Given the description of an element on the screen output the (x, y) to click on. 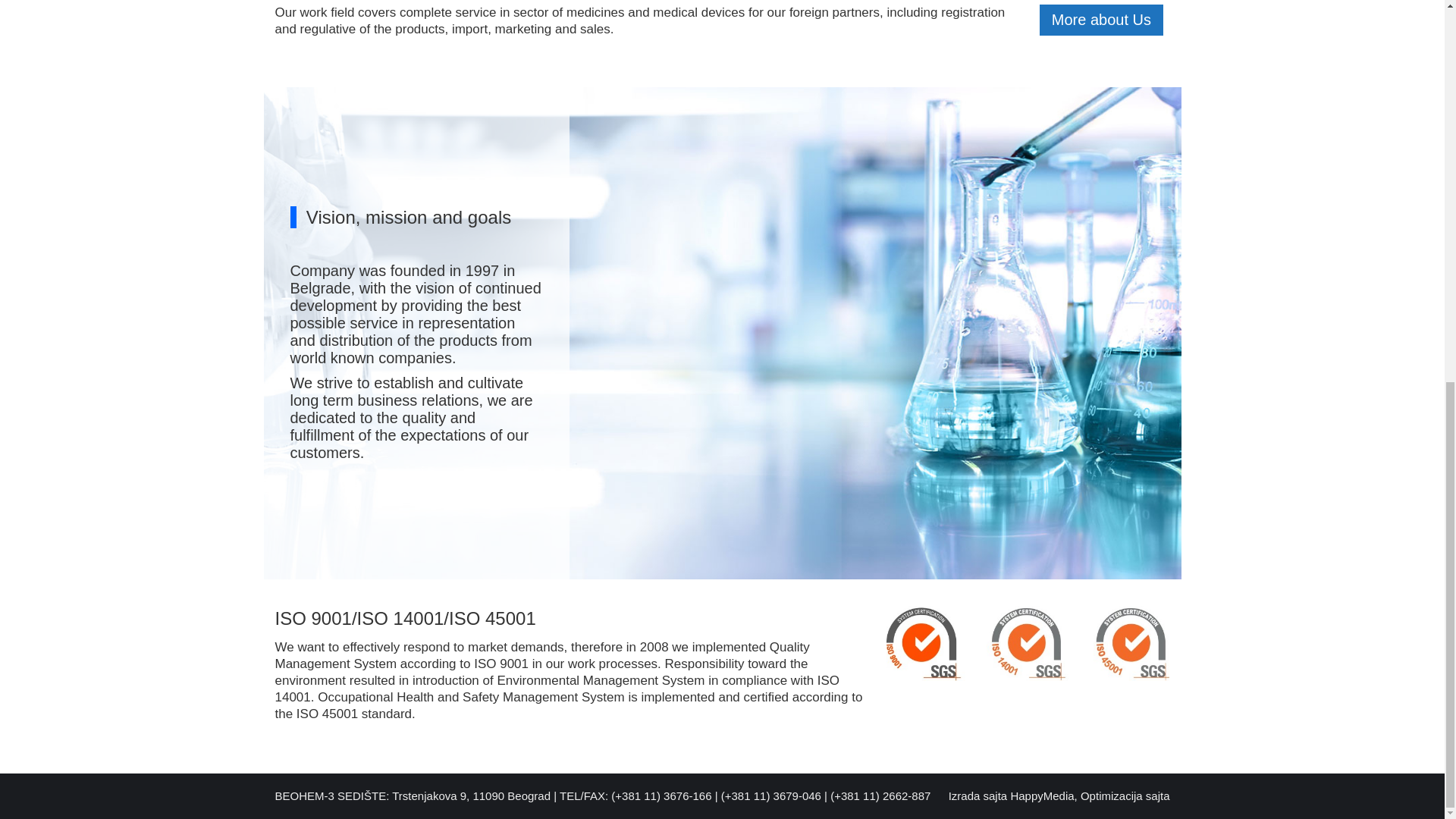
More about Us (1101, 20)
Optimizacija sajta (1125, 795)
HappyMedia (1042, 795)
